Given the description of an element on the screen output the (x, y) to click on. 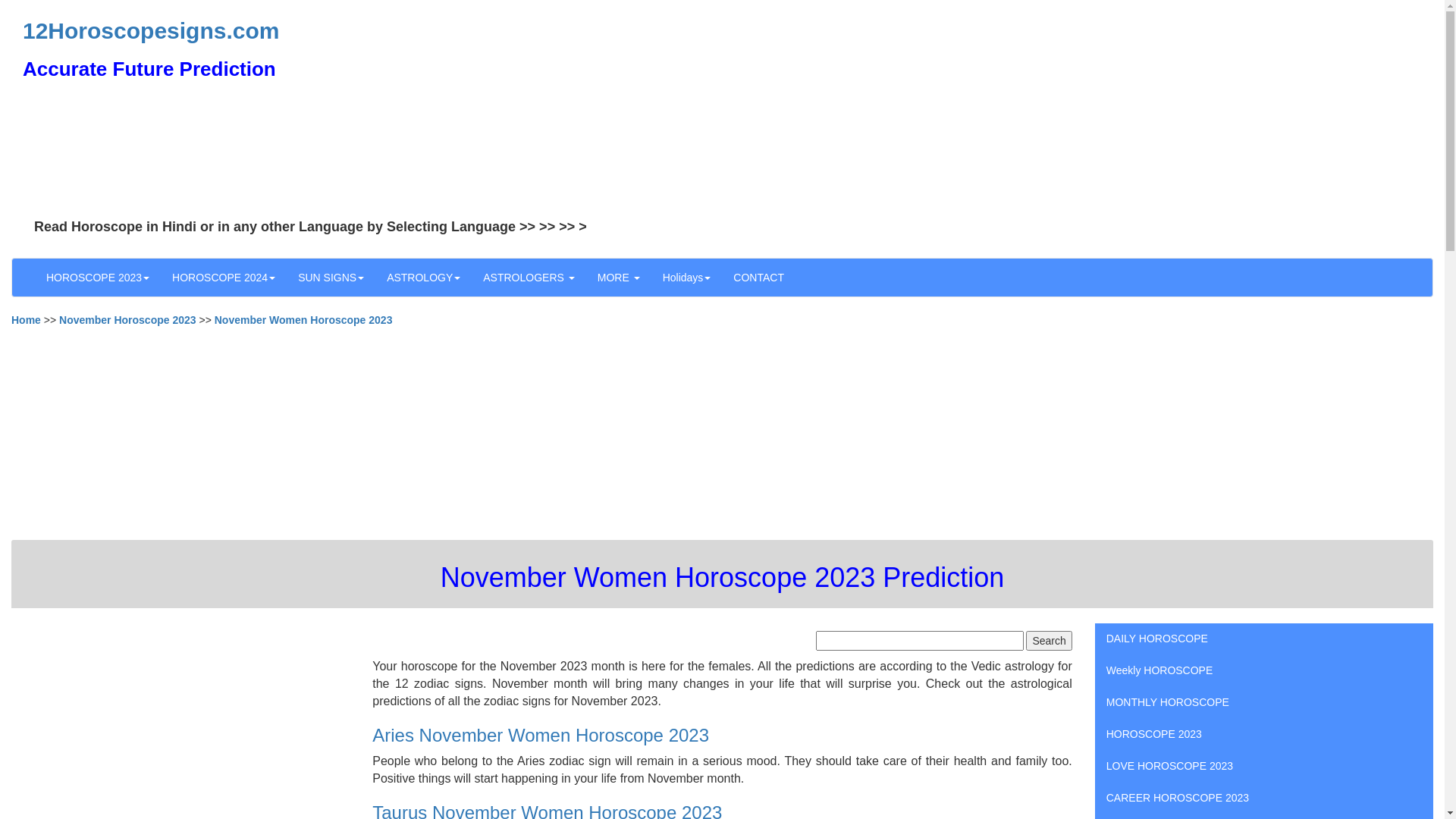
Home Element type: text (25, 319)
LOVE HOROSCOPE 2023 Element type: text (1264, 765)
CAREER HOROSCOPE 2023 Element type: text (1264, 797)
ASTROLOGY Element type: text (423, 277)
MONTHLY HOROSCOPE Element type: text (1264, 702)
CONTACT Element type: text (758, 277)
Holidays Element type: text (686, 277)
ASTROLOGERS Element type: text (528, 277)
Search Element type: text (1048, 640)
HOROSCOPE 2023 Element type: text (1264, 733)
November Women Horoscope 2023 Element type: text (303, 319)
November Horoscope 2023 Element type: text (127, 319)
Aries November Women Horoscope 2023 Element type: text (540, 734)
HOROSCOPE 2024 Element type: text (223, 277)
DAILY HOROSCOPE Element type: text (1264, 638)
MORE Element type: text (618, 277)
HOROSCOPE 2023 Element type: text (97, 277)
SUN SIGNS Element type: text (330, 277)
Weekly HOROSCOPE Element type: text (1264, 670)
